Given the description of an element on the screen output the (x, y) to click on. 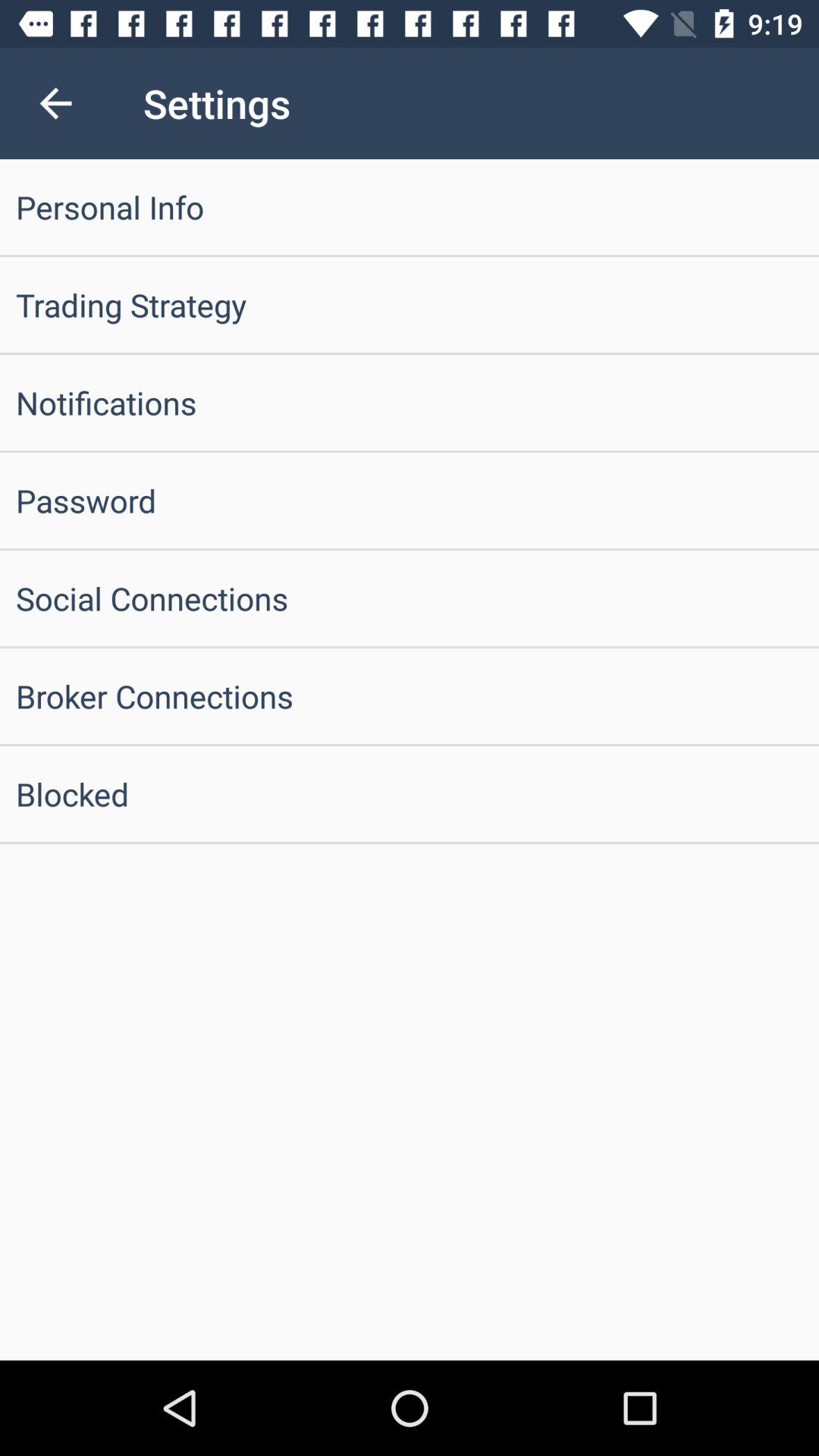
turn off the icon below personal info item (409, 304)
